Given the description of an element on the screen output the (x, y) to click on. 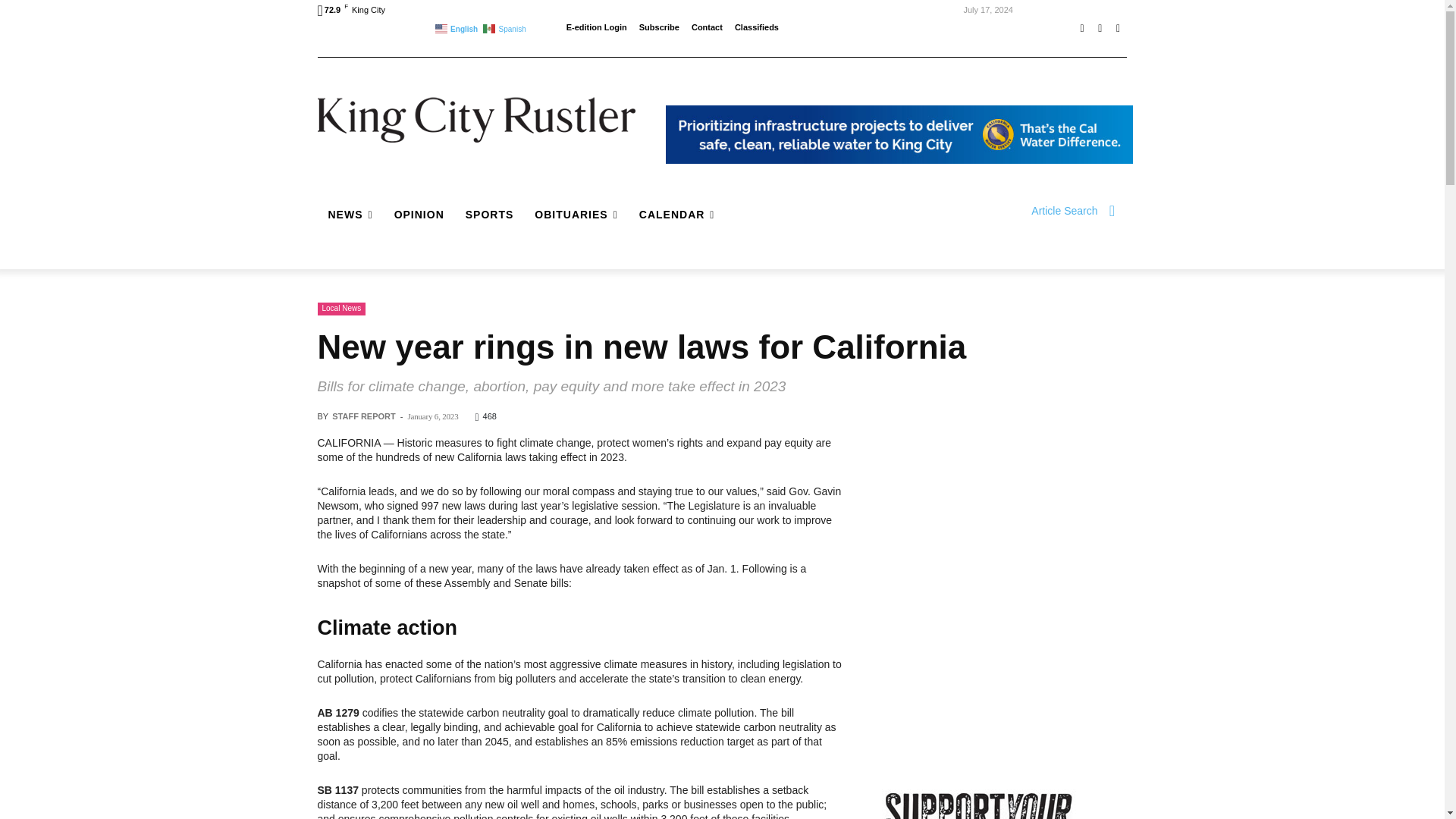
Subscribe (659, 27)
NEWS (349, 214)
English (457, 27)
Facebook (1081, 28)
Contact (706, 27)
E-edition Login (596, 27)
Instagram (1099, 28)
Classifieds (756, 27)
Twitter (1117, 28)
Spanish (505, 27)
